Given the description of an element on the screen output the (x, y) to click on. 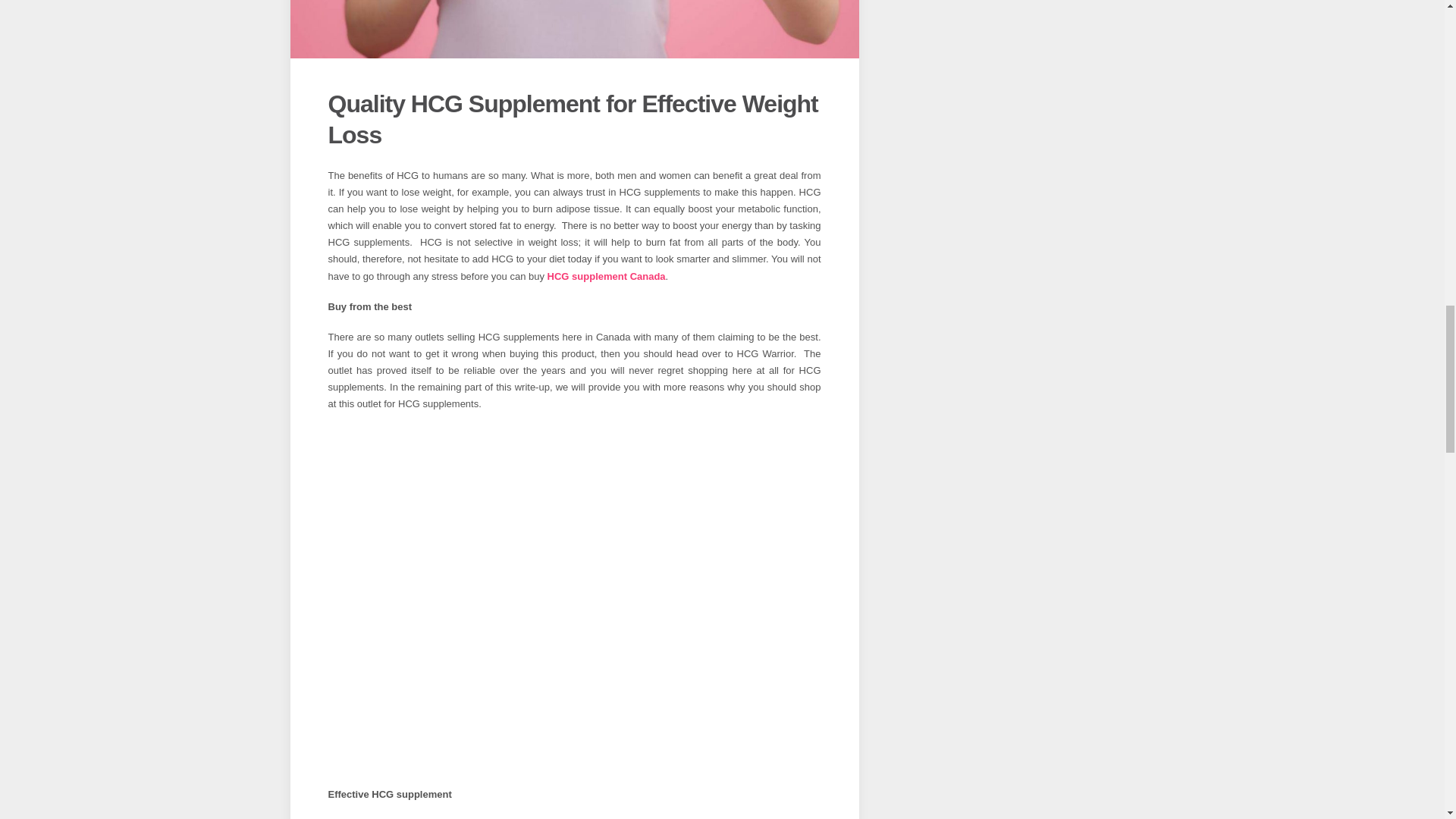
HCG supplement Canada (606, 276)
Quality HCG Supplement for Effective Weight Loss (571, 119)
